Given the description of an element on the screen output the (x, y) to click on. 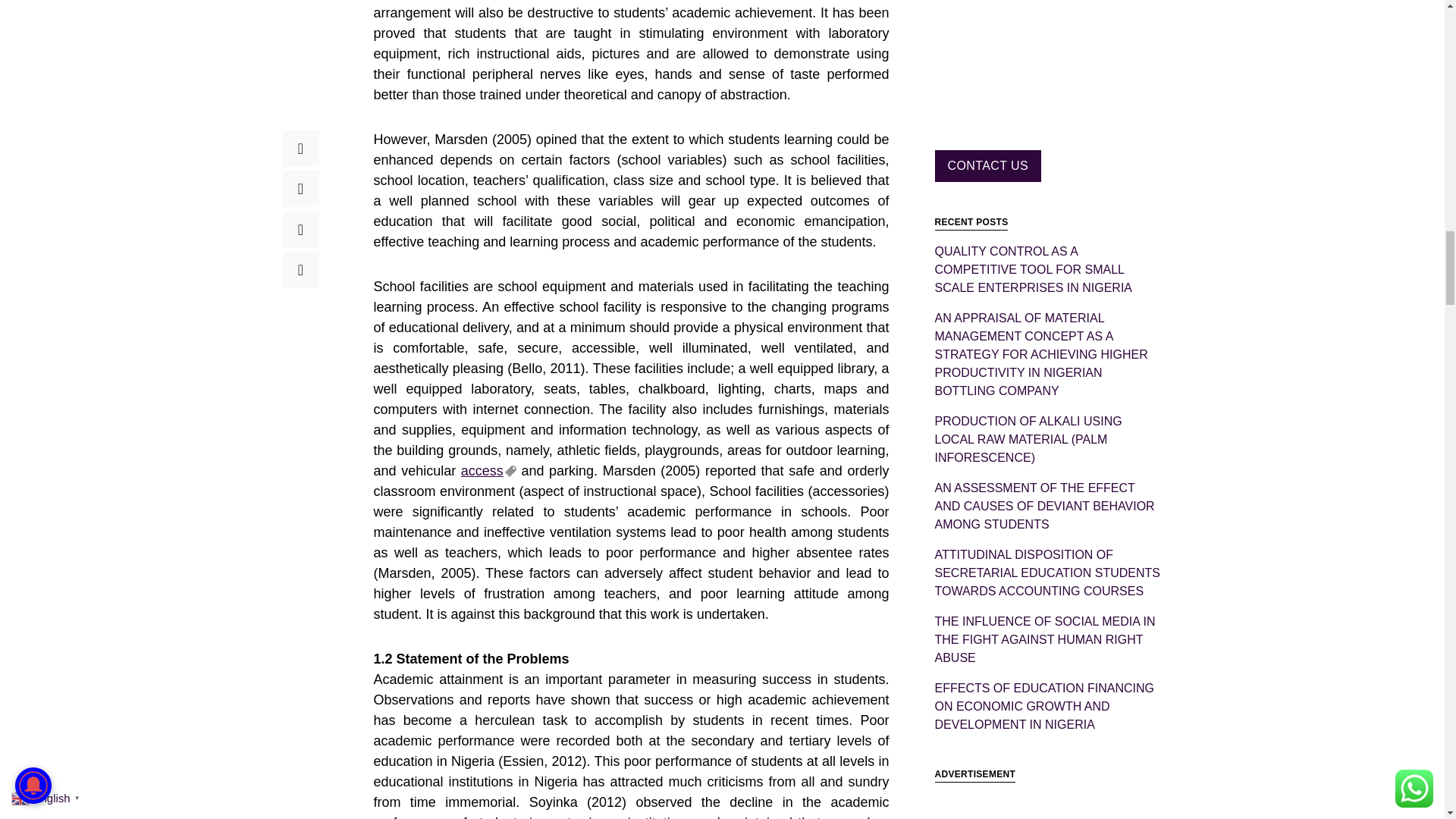
access (488, 470)
